Given the description of an element on the screen output the (x, y) to click on. 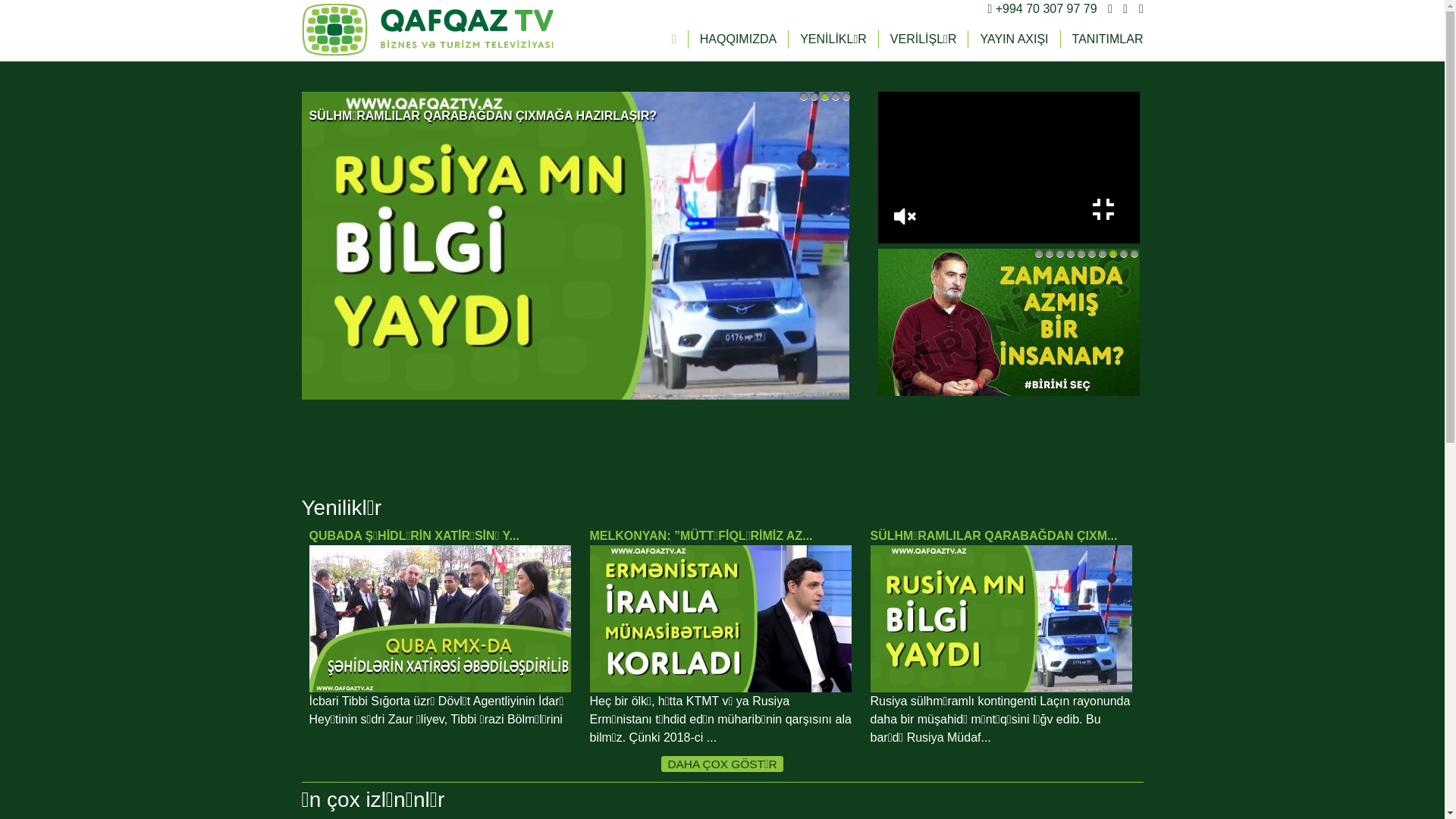
7 Element type: text (1102, 252)
10 Element type: text (1134, 252)
3 Element type: text (1059, 252)
+994 70 307 97 79 Element type: text (1045, 8)
4 Element type: text (835, 95)
5 Element type: text (1080, 252)
HAQQIMIZDA Element type: text (737, 39)
2 Element type: text (814, 95)
2 Element type: text (1049, 252)
1 Element type: text (803, 95)
3 Element type: text (824, 95)
1 Element type: text (1038, 252)
6 Element type: text (1091, 252)
4 Element type: text (1070, 252)
9 Element type: text (1123, 252)
TANITIMLAR Element type: text (1107, 39)
8 Element type: text (1112, 252)
5 Element type: text (845, 95)
